Given the description of an element on the screen output the (x, y) to click on. 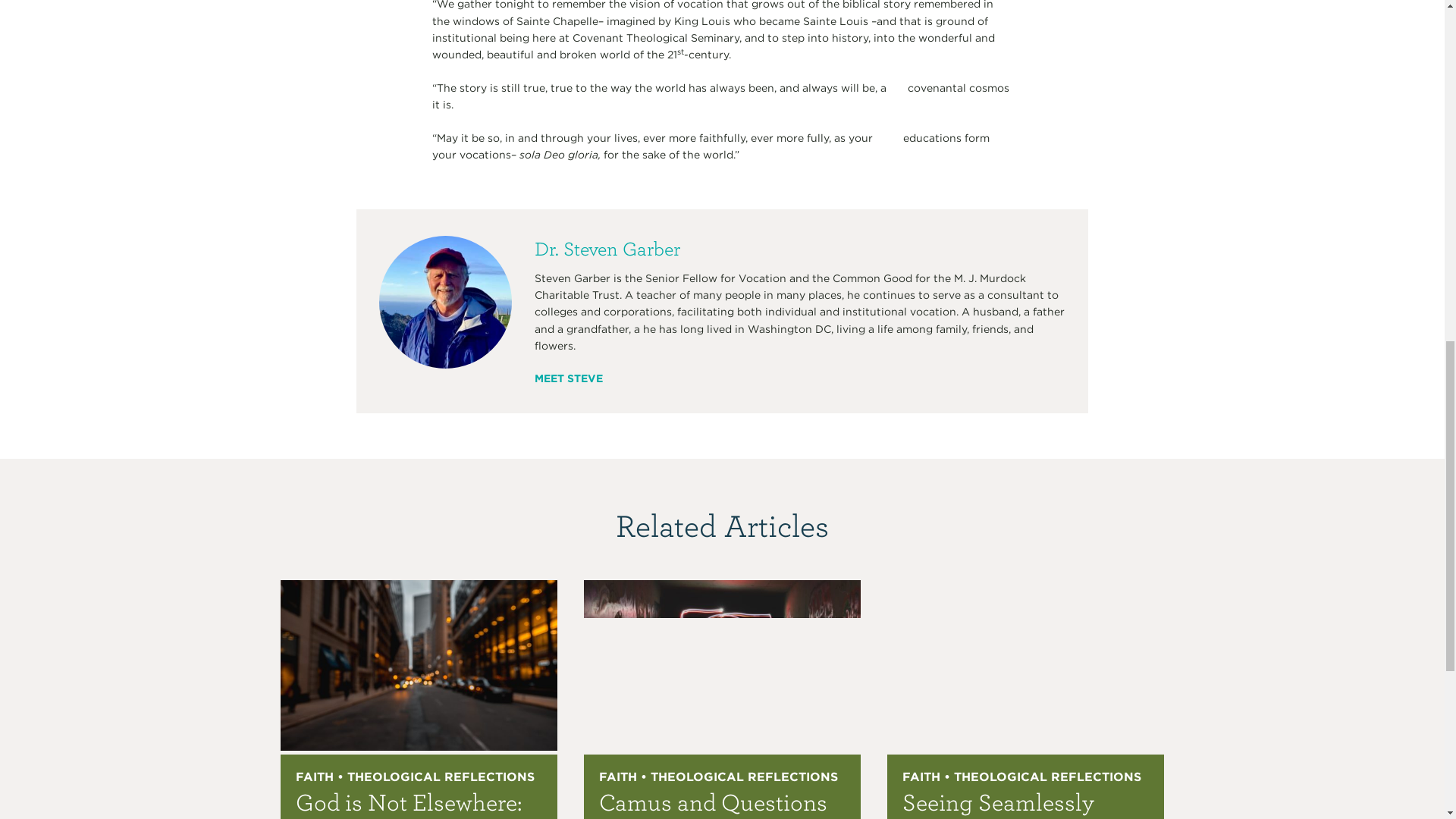
MEET STEVE (568, 378)
Posts by Dr. Steven Garber (606, 247)
Dr. Steven Garber (606, 247)
